Given the description of an element on the screen output the (x, y) to click on. 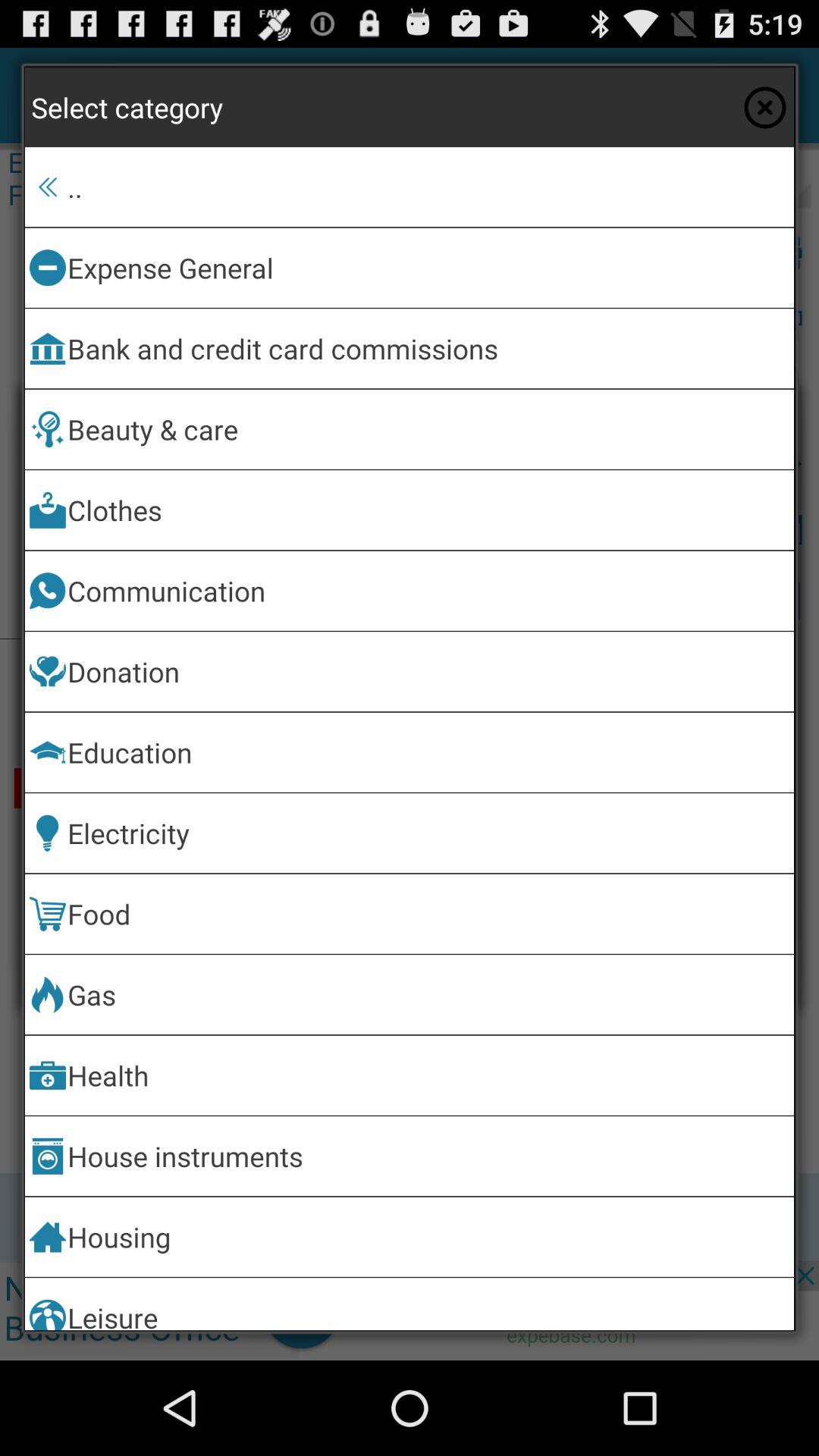
press icon above the beauty & care app (427, 348)
